Given the description of an element on the screen output the (x, y) to click on. 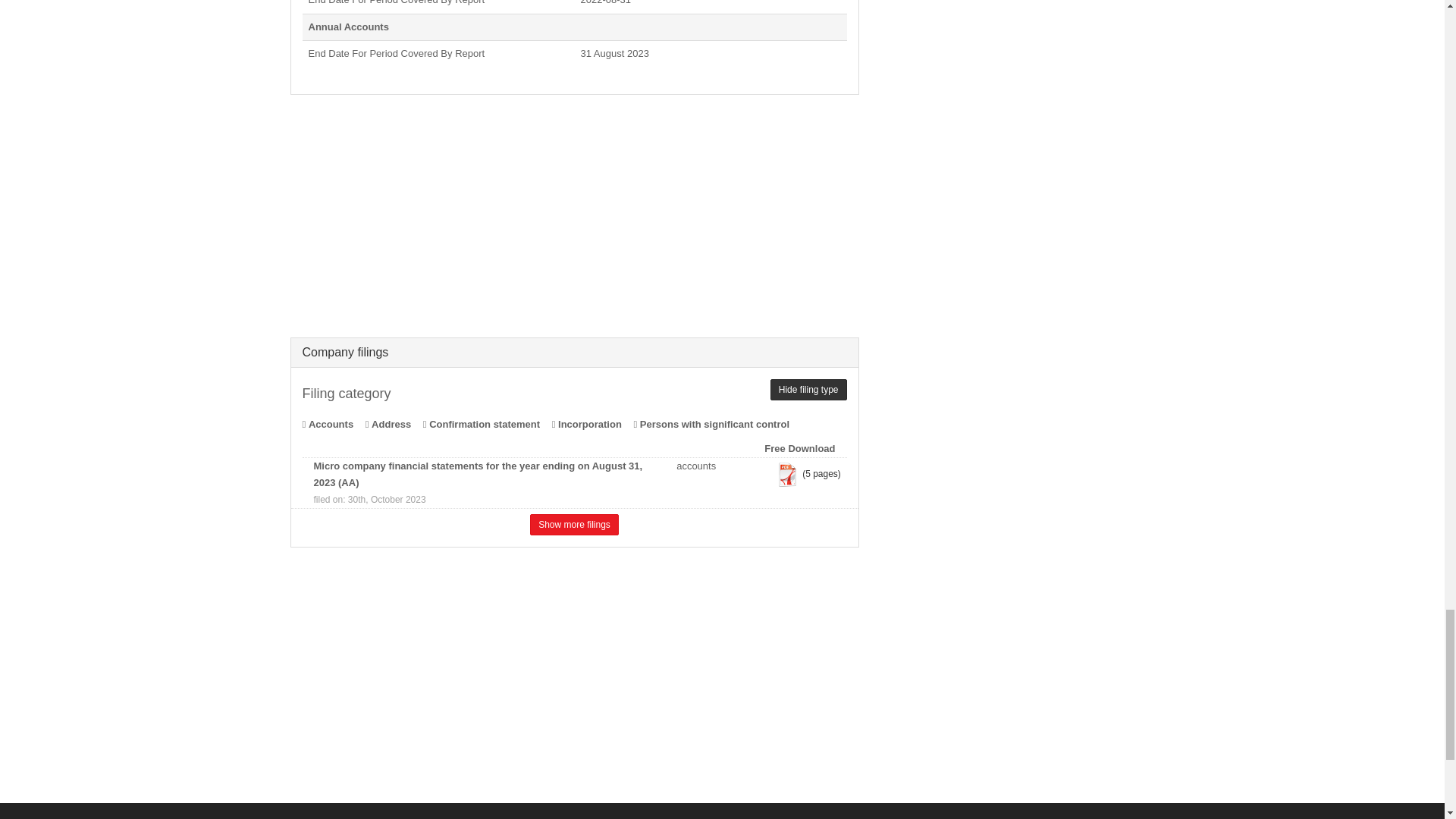
Show more filings (573, 524)
